Given the description of an element on the screen output the (x, y) to click on. 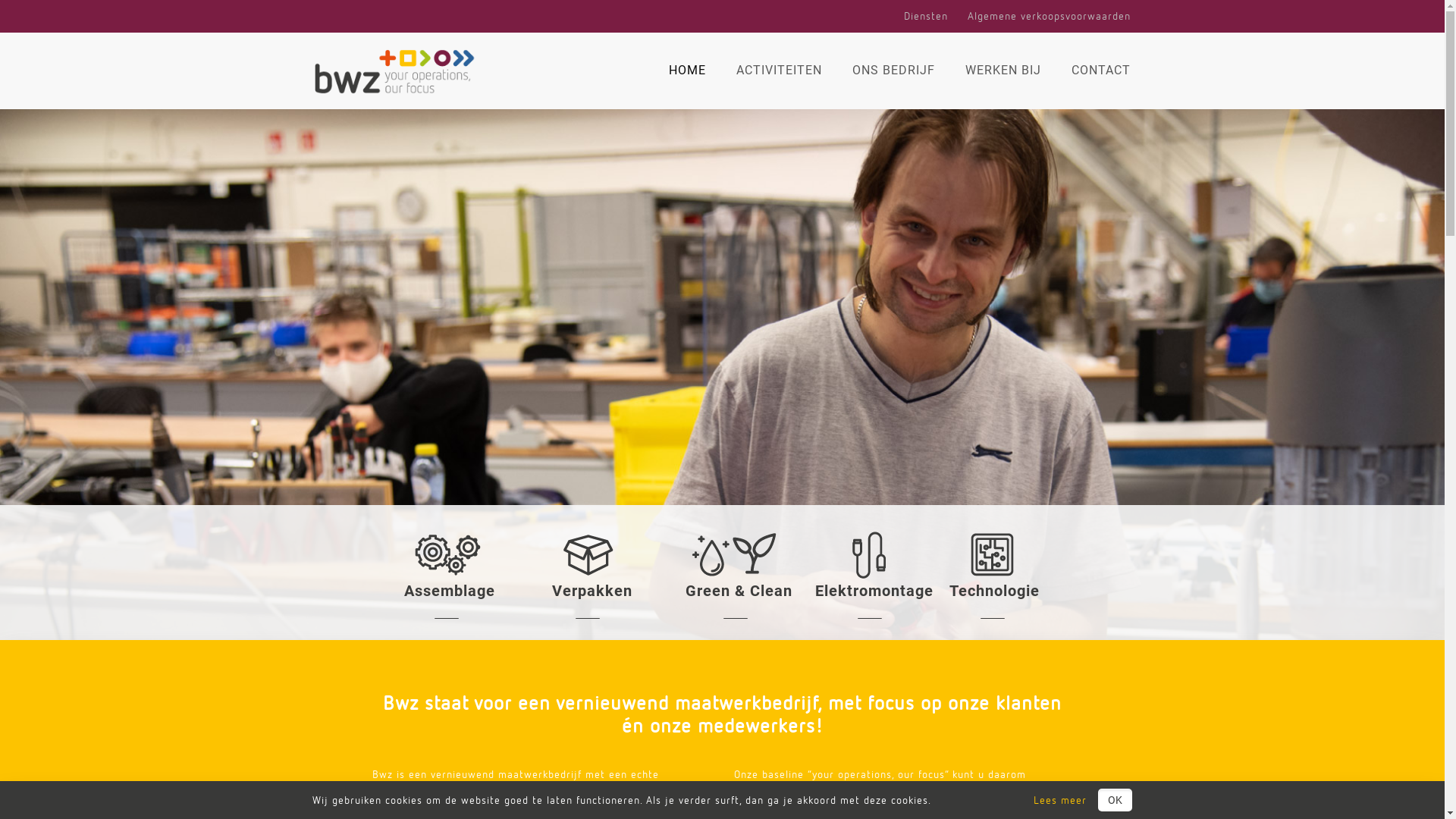
WERKEN BIJ Element type: text (1002, 70)
OK Element type: text (1115, 799)
Verpakken Element type: text (592, 590)
bwz Element type: hover (394, 70)
ACTIVITEITEN Element type: text (778, 70)
Lees meer Element type: text (1059, 799)
HOME Element type: text (687, 70)
Assemblage Element type: text (448, 590)
Green & Clean Element type: text (738, 590)
Diensten Element type: text (925, 15)
ONS BEDRIJF Element type: text (893, 70)
Elektromontage Element type: text (873, 590)
CONTACT Element type: text (1092, 70)
Technologie Element type: text (994, 590)
Algemene verkoopsvoorwaarden Element type: text (1048, 15)
